Given the description of an element on the screen output the (x, y) to click on. 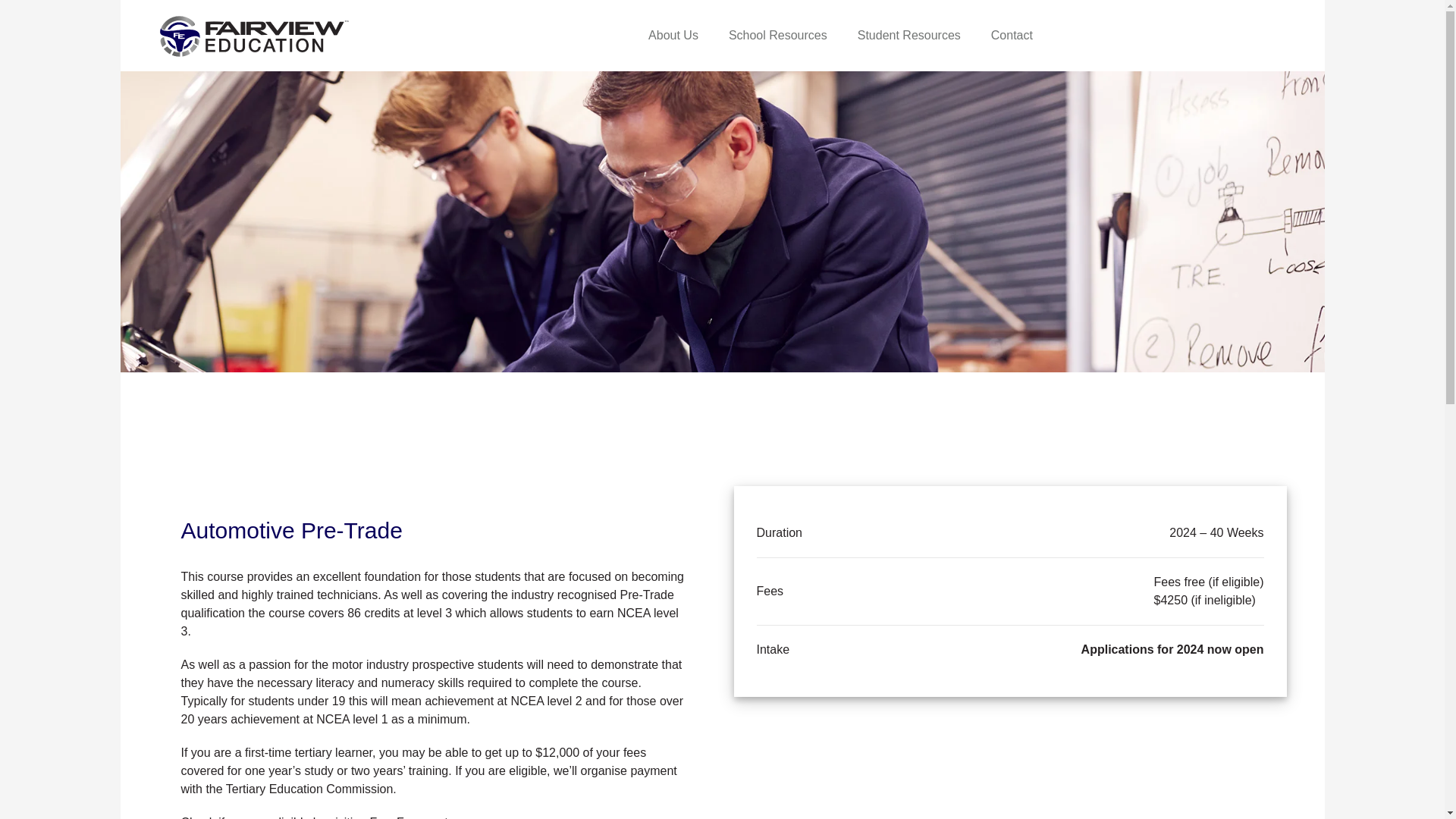
Student Resources (909, 35)
Contact (1003, 35)
FeesFree.govt.nz (416, 817)
School Resources (778, 35)
About Us (673, 35)
